Given the description of an element on the screen output the (x, y) to click on. 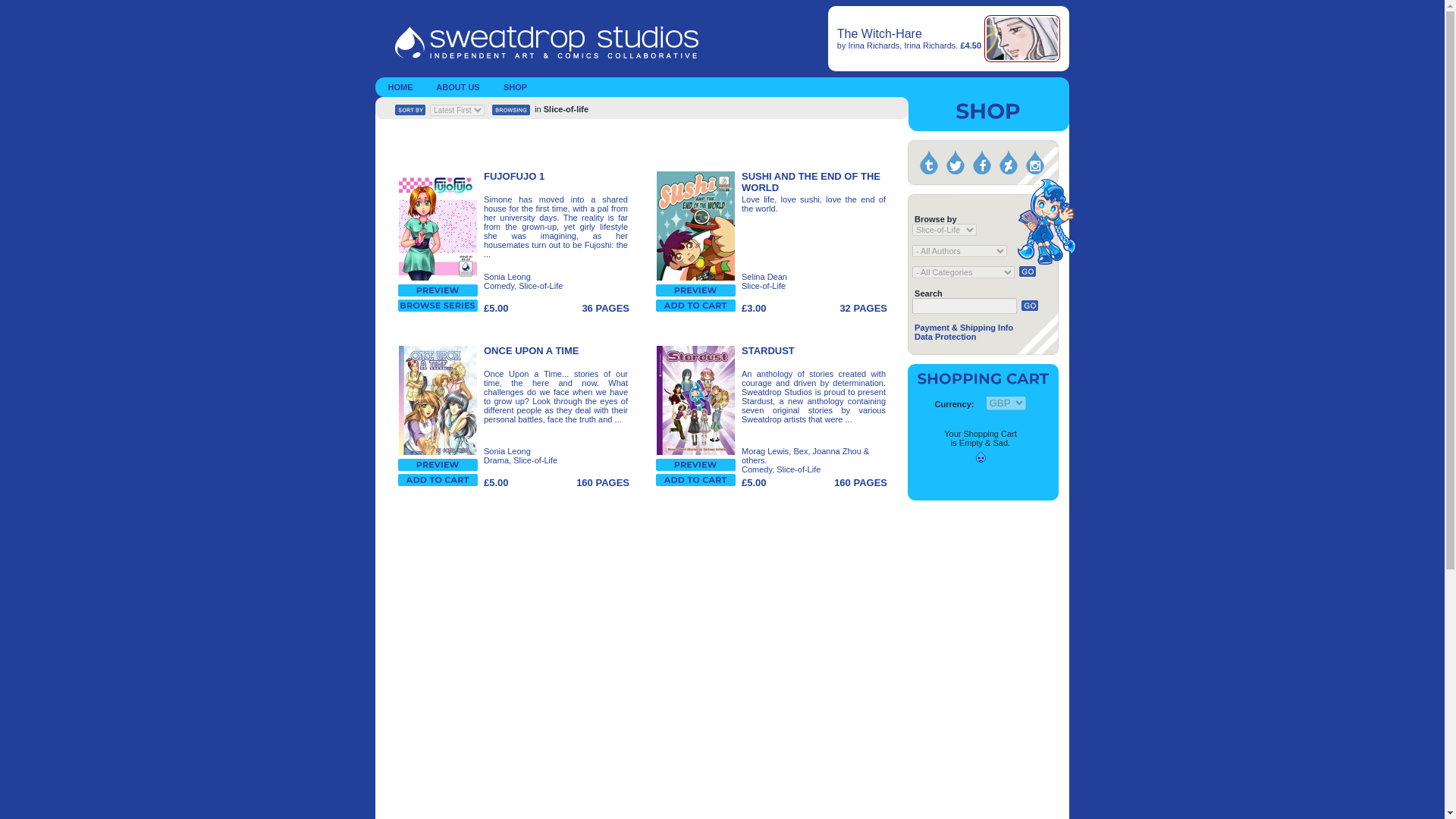
Irina Richards (929, 44)
Morag Lewis (765, 450)
Comedy (756, 469)
Drama (495, 460)
Slice-of-Life (763, 285)
Slice-of-Life (540, 285)
Irina Richards (873, 44)
Joanna Zhou (836, 450)
Sonia Leong (507, 276)
SHOP (515, 88)
